Given the description of an element on the screen output the (x, y) to click on. 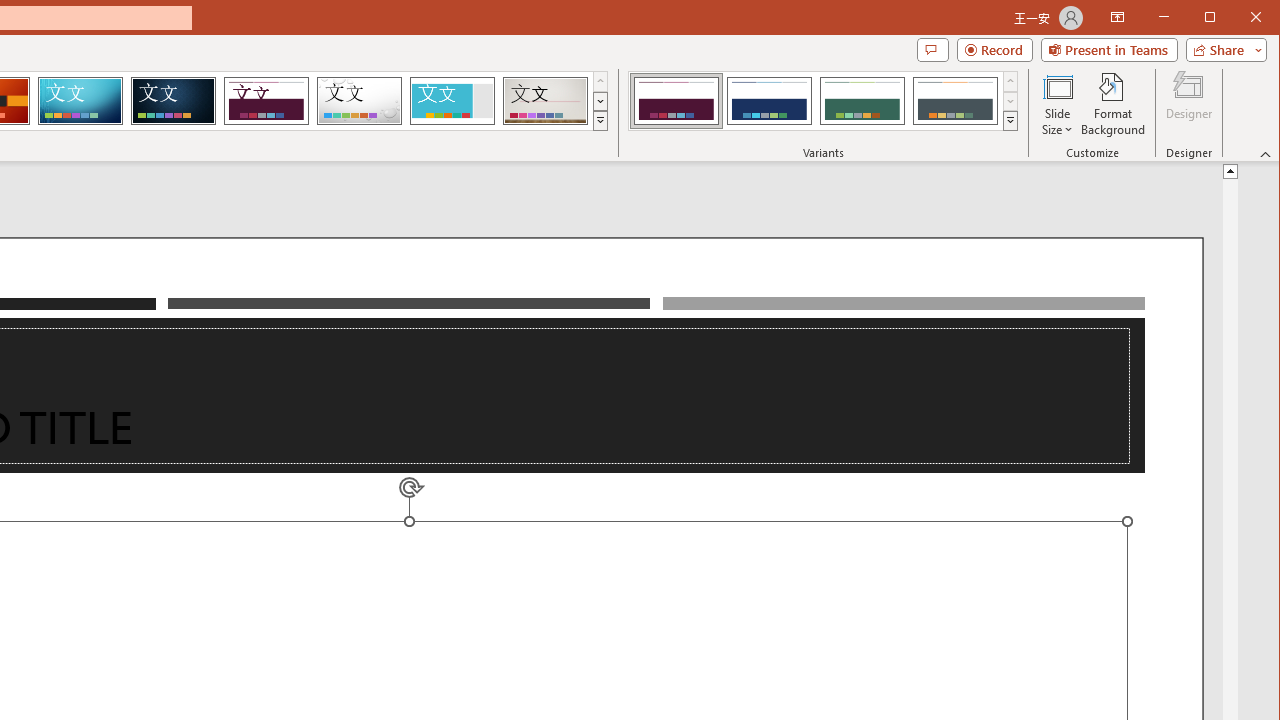
Gallery (545, 100)
Circuit (80, 100)
Damask (173, 100)
Frame (452, 100)
Dividend (266, 100)
Variants (1010, 120)
AutomationID: ThemeVariantsGallery (824, 101)
Dividend Variant 3 (862, 100)
